Given the description of an element on the screen output the (x, y) to click on. 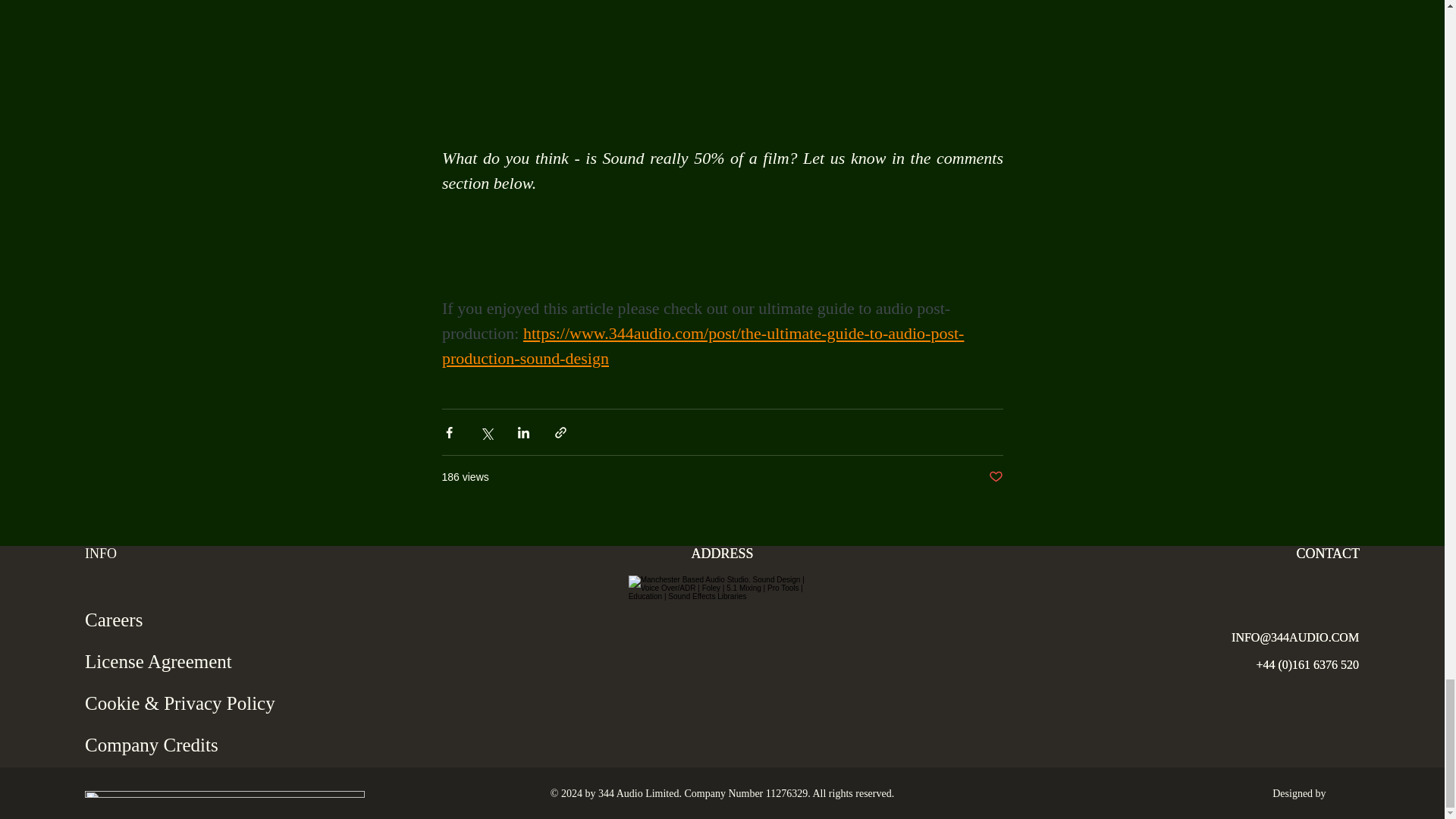
Company Credits (198, 744)
License Agreement (198, 661)
Post not marked as liked (995, 477)
Careers (198, 619)
